Given the description of an element on the screen output the (x, y) to click on. 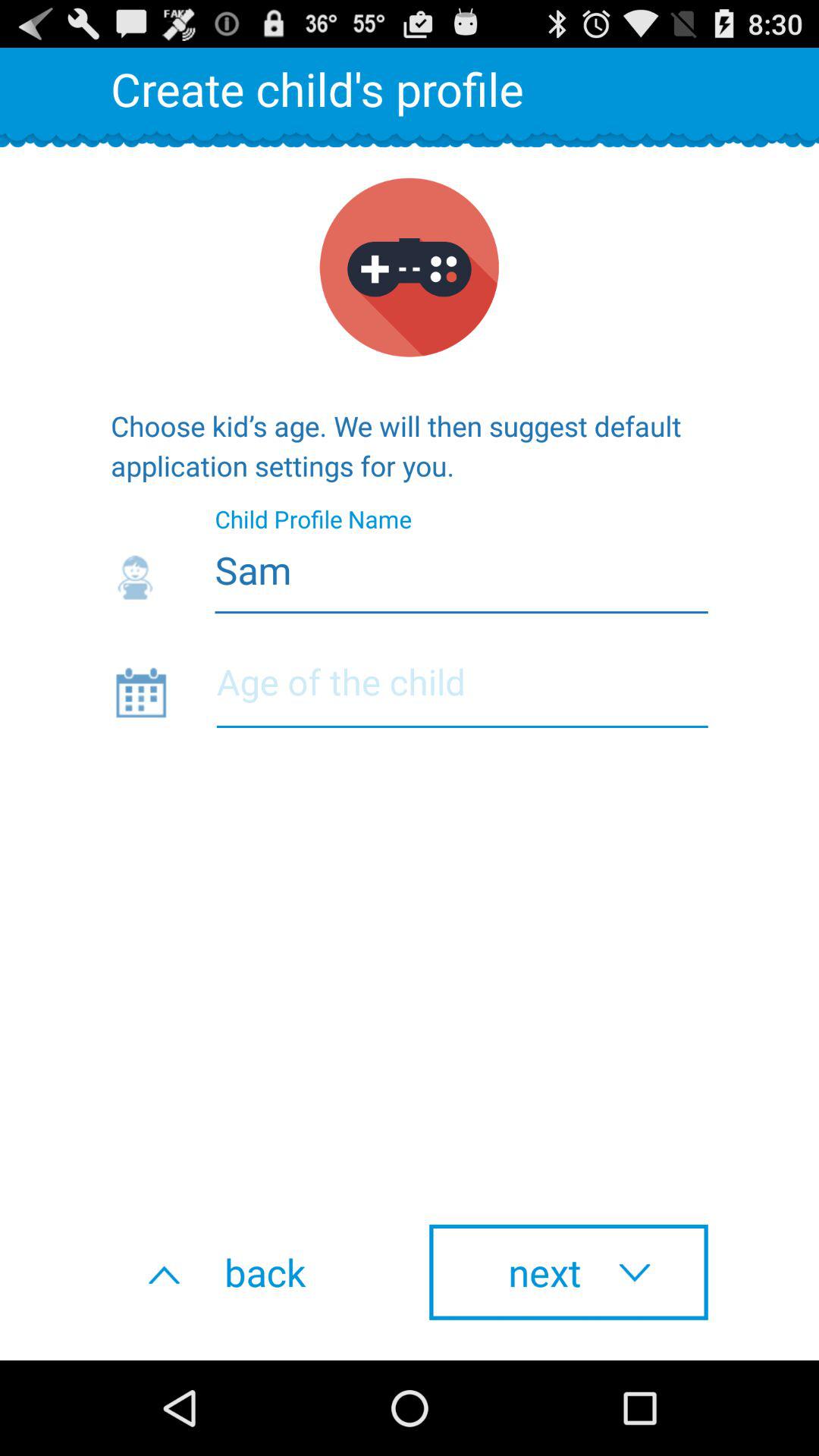
launch the icon at the bottom right corner (568, 1272)
